Given the description of an element on the screen output the (x, y) to click on. 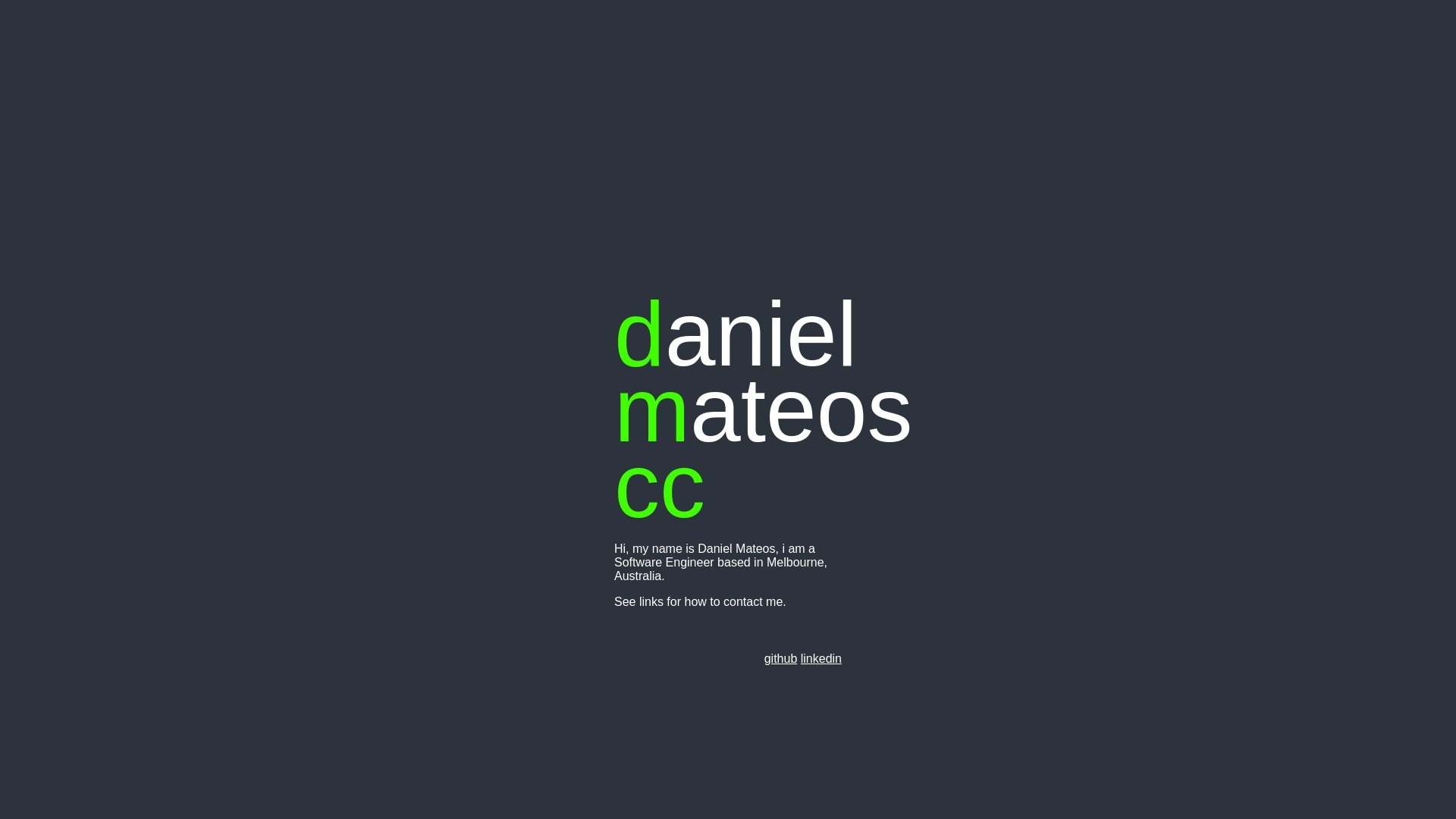
github Element type: text (780, 658)
linkedin Element type: text (820, 658)
